Given the description of an element on the screen output the (x, y) to click on. 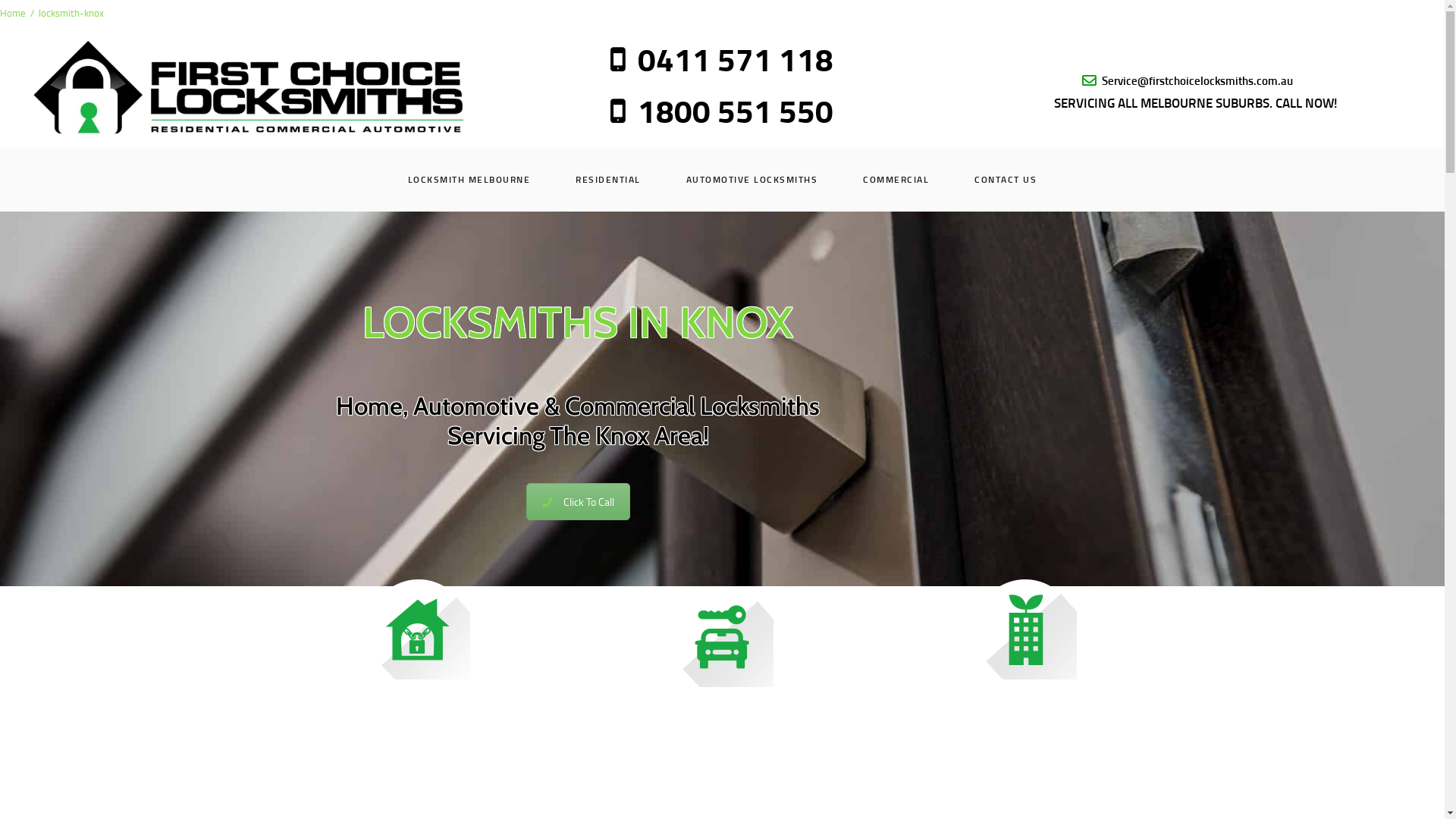
icon1 Element type: hover (419, 629)
CONTACT US Element type: text (1005, 179)
Home Element type: text (12, 13)
RESIDENTIAL Element type: text (607, 179)
  1800 551 550 Element type: text (721, 110)
COMMERCIAL Element type: text (895, 179)
icon3 Element type: hover (722, 636)
LOCKSMITH MELBOURNE Element type: text (469, 179)
icon2 Element type: hover (1025, 629)
  0411 571 118 Element type: text (721, 58)
Click To Call Element type: text (578, 501)
AUTOMOTIVE LOCKSMITHS Element type: text (751, 179)
ORDER 35826-RAW Element type: hover (247, 86)
